Given the description of an element on the screen output the (x, y) to click on. 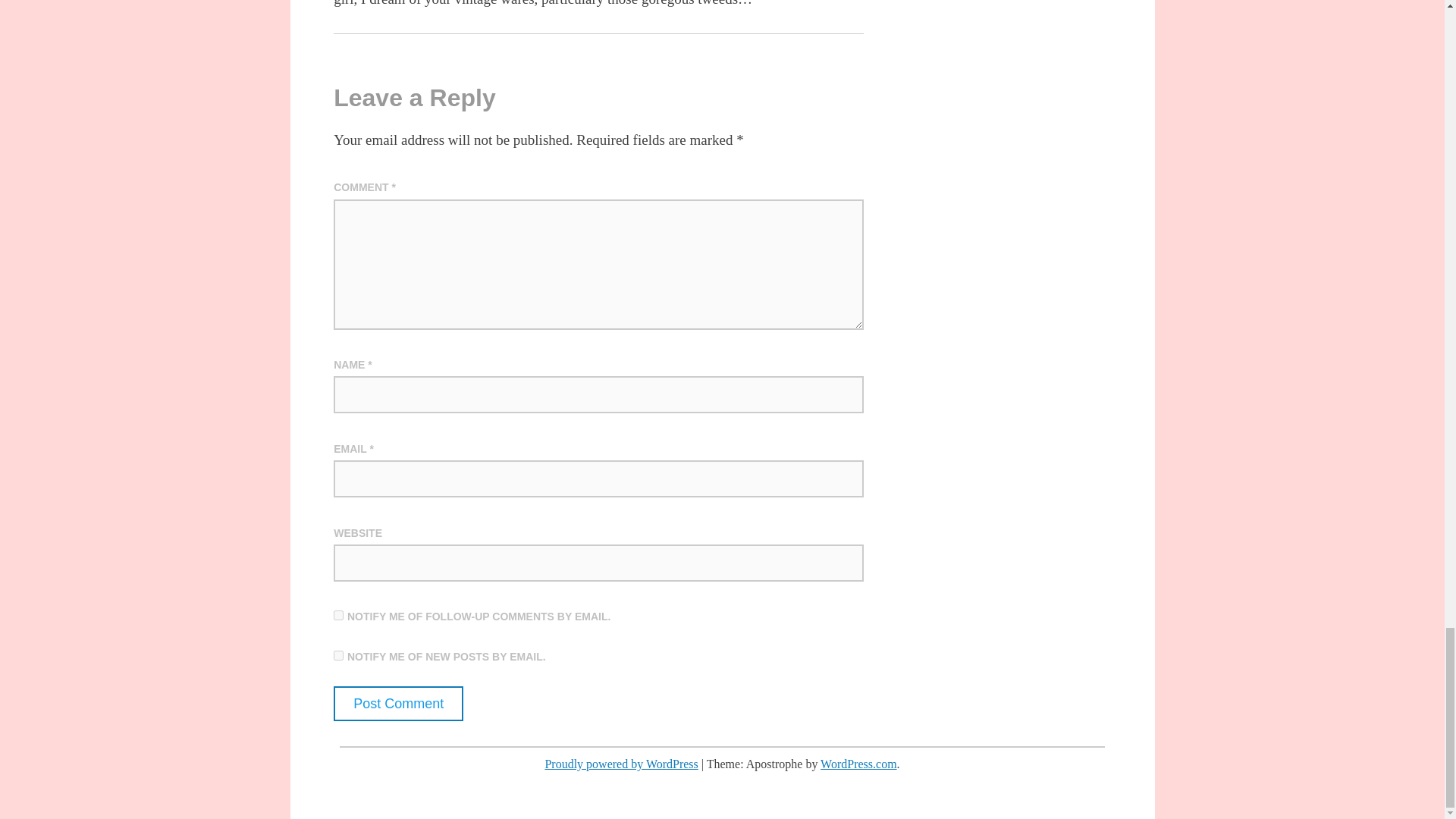
Post Comment (398, 703)
subscribe (338, 655)
subscribe (338, 614)
